Given the description of an element on the screen output the (x, y) to click on. 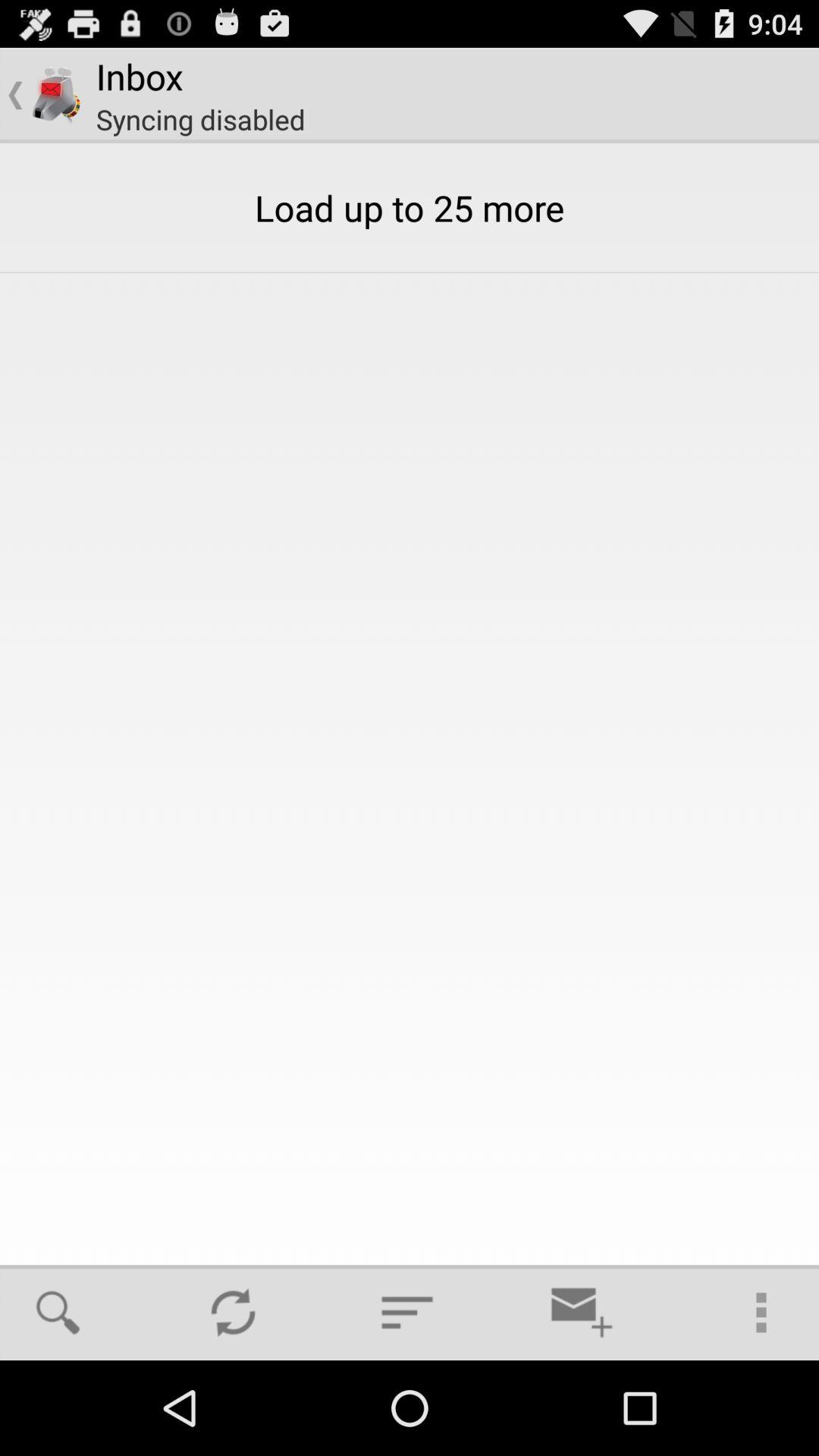
select the icon at the bottom (407, 1312)
